Given the description of an element on the screen output the (x, y) to click on. 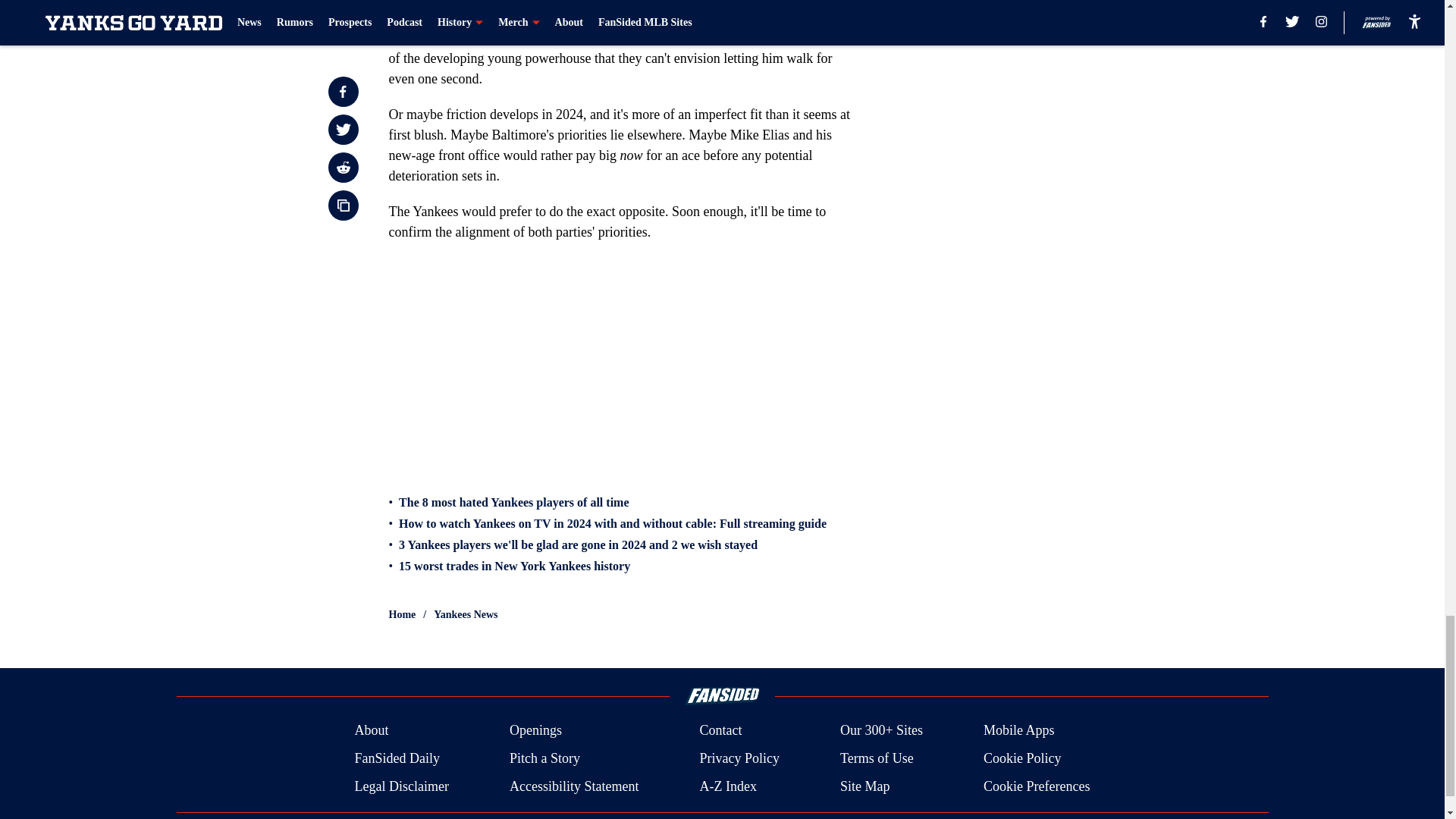
Home (401, 614)
About (370, 730)
The 8 most hated Yankees players of all time (513, 502)
15 worst trades in New York Yankees history (514, 566)
Yankees News (465, 614)
Maybe Baltimore's new ownership group (500, 17)
